Given the description of an element on the screen output the (x, y) to click on. 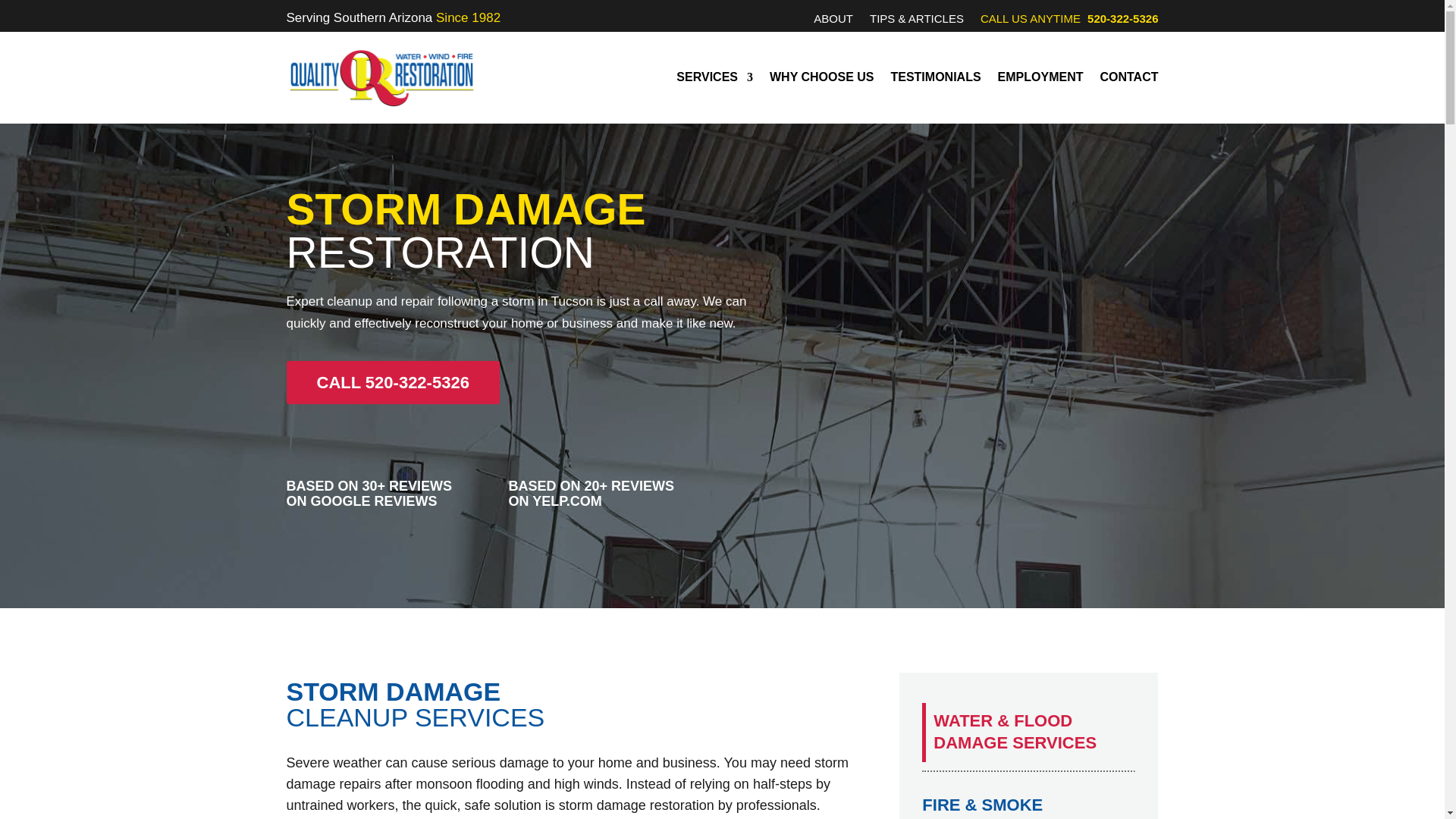
ABOUT (833, 21)
EMPLOYMENT (1040, 77)
CALL 520-322-5326 (392, 382)
SERVICES (714, 77)
TESTIMONIALS (934, 77)
CONTACT (1128, 77)
WHY CHOOSE US (822, 77)
CALL US ANYTIME 520-322-5326 (1068, 21)
